Given the description of an element on the screen output the (x, y) to click on. 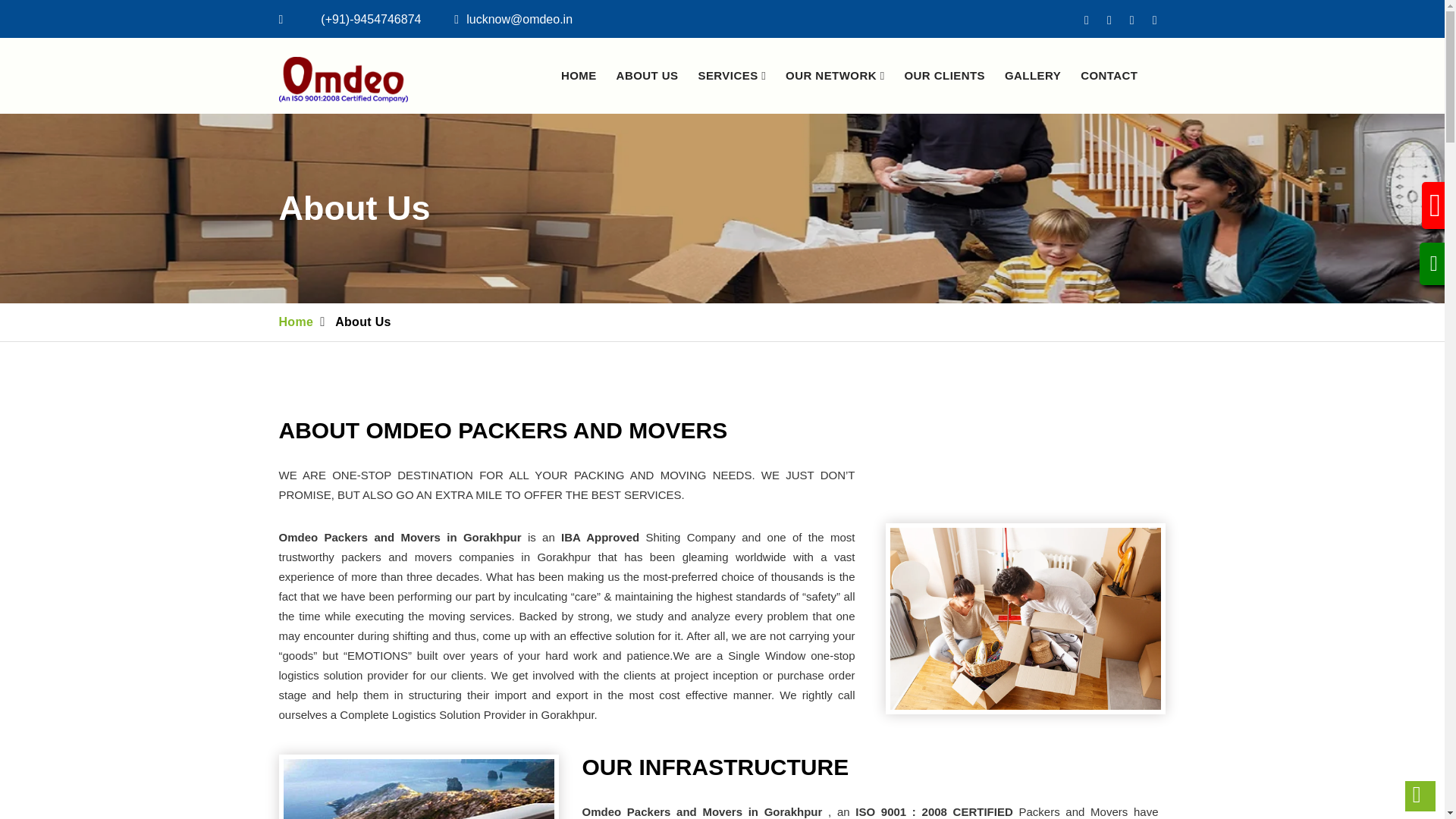
GALLERY (1032, 75)
Scroll to Top (1420, 796)
OUR NETWORK (835, 75)
HOME (578, 75)
SERVICES (731, 75)
ABOUT US (646, 75)
OUR CLIENTS (944, 75)
